Given the description of an element on the screen output the (x, y) to click on. 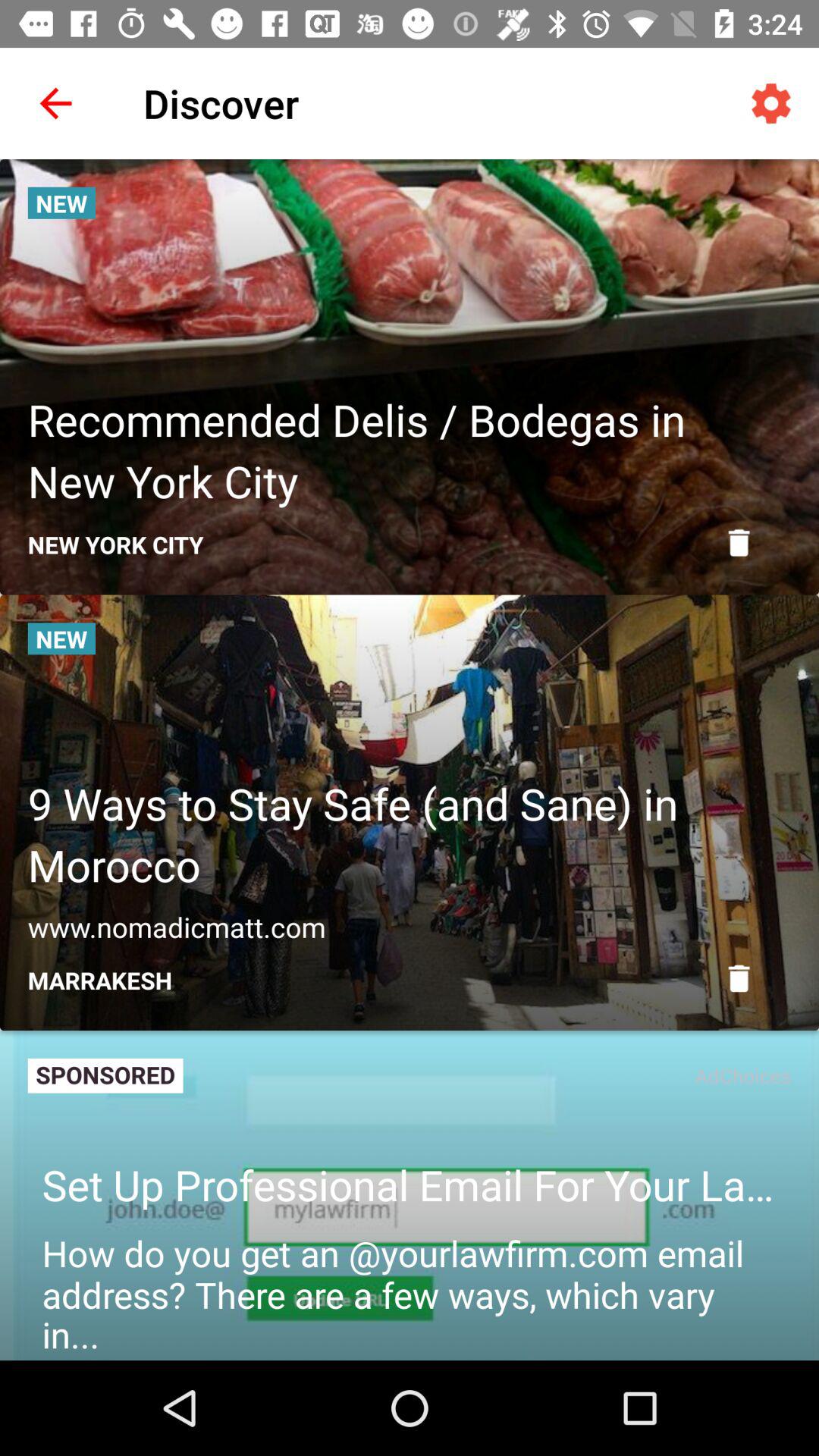
go to trash (739, 542)
